Given the description of an element on the screen output the (x, y) to click on. 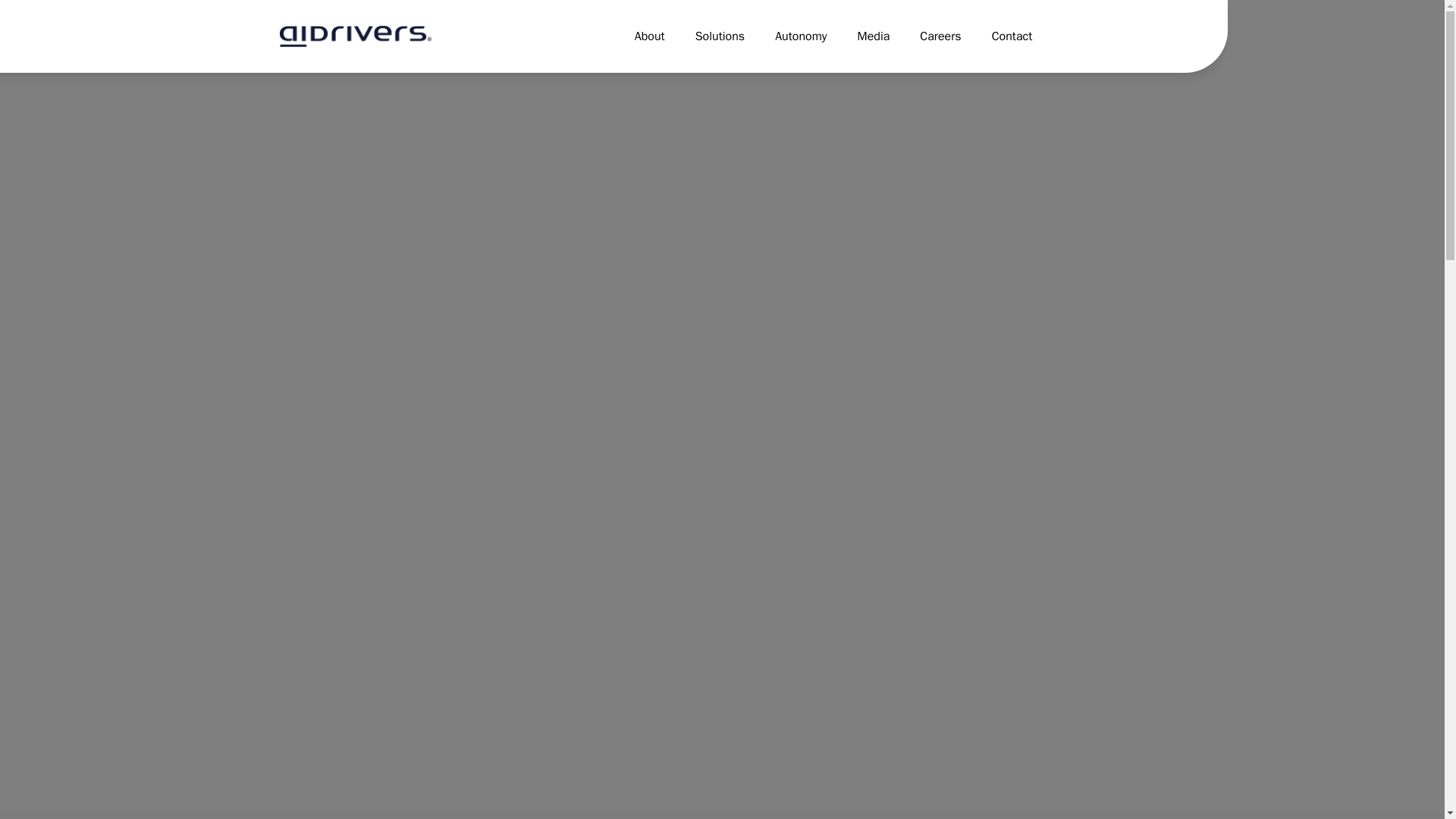
About (649, 36)
Careers (940, 36)
Autonomy (800, 36)
Contact (1011, 36)
Media (873, 36)
Solutions (719, 36)
